Given the description of an element on the screen output the (x, y) to click on. 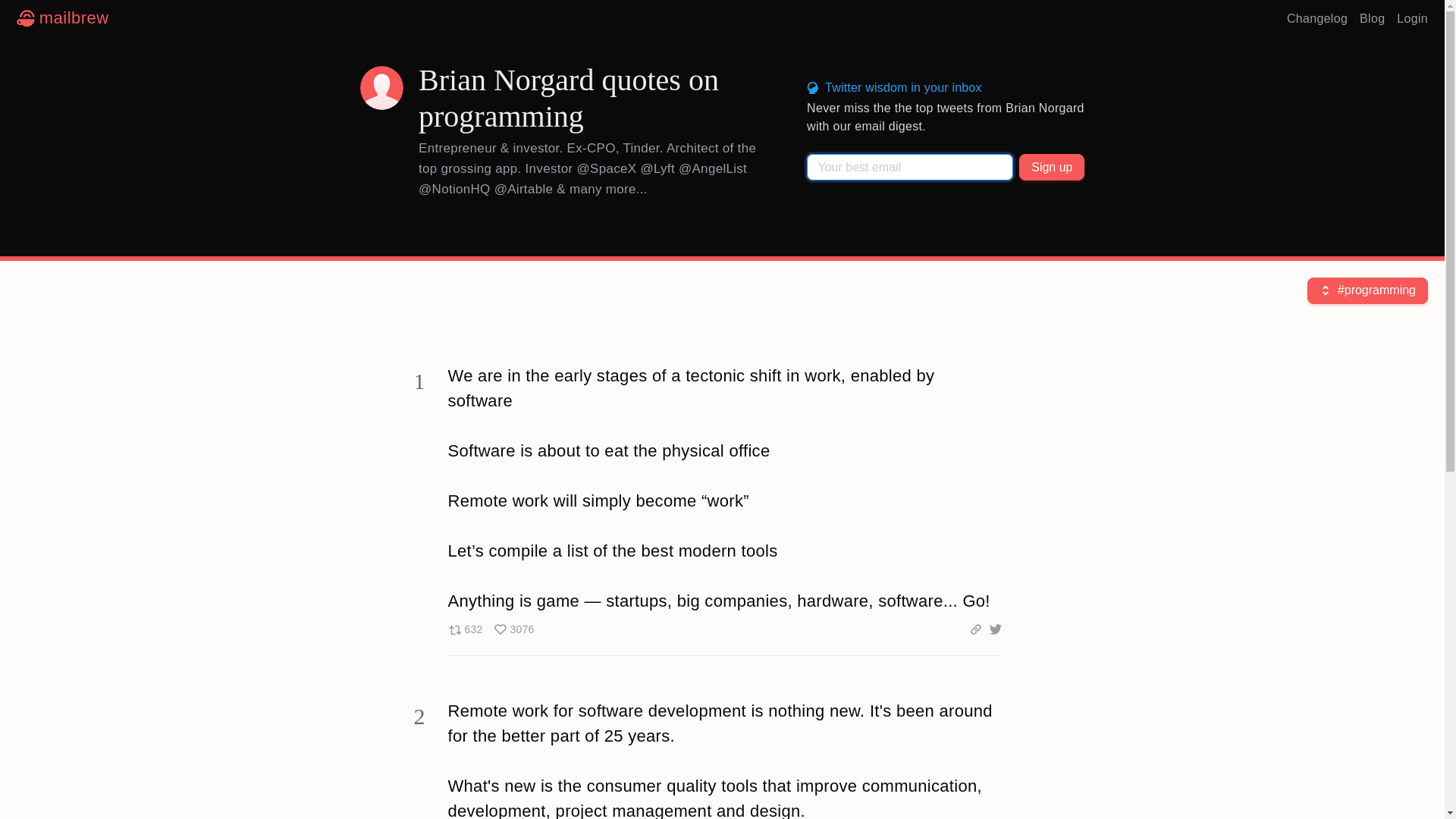
Login (1412, 18)
Blog (1371, 18)
mailbrew (62, 18)
Sign up (1051, 166)
Changelog (490, 630)
